Given the description of an element on the screen output the (x, y) to click on. 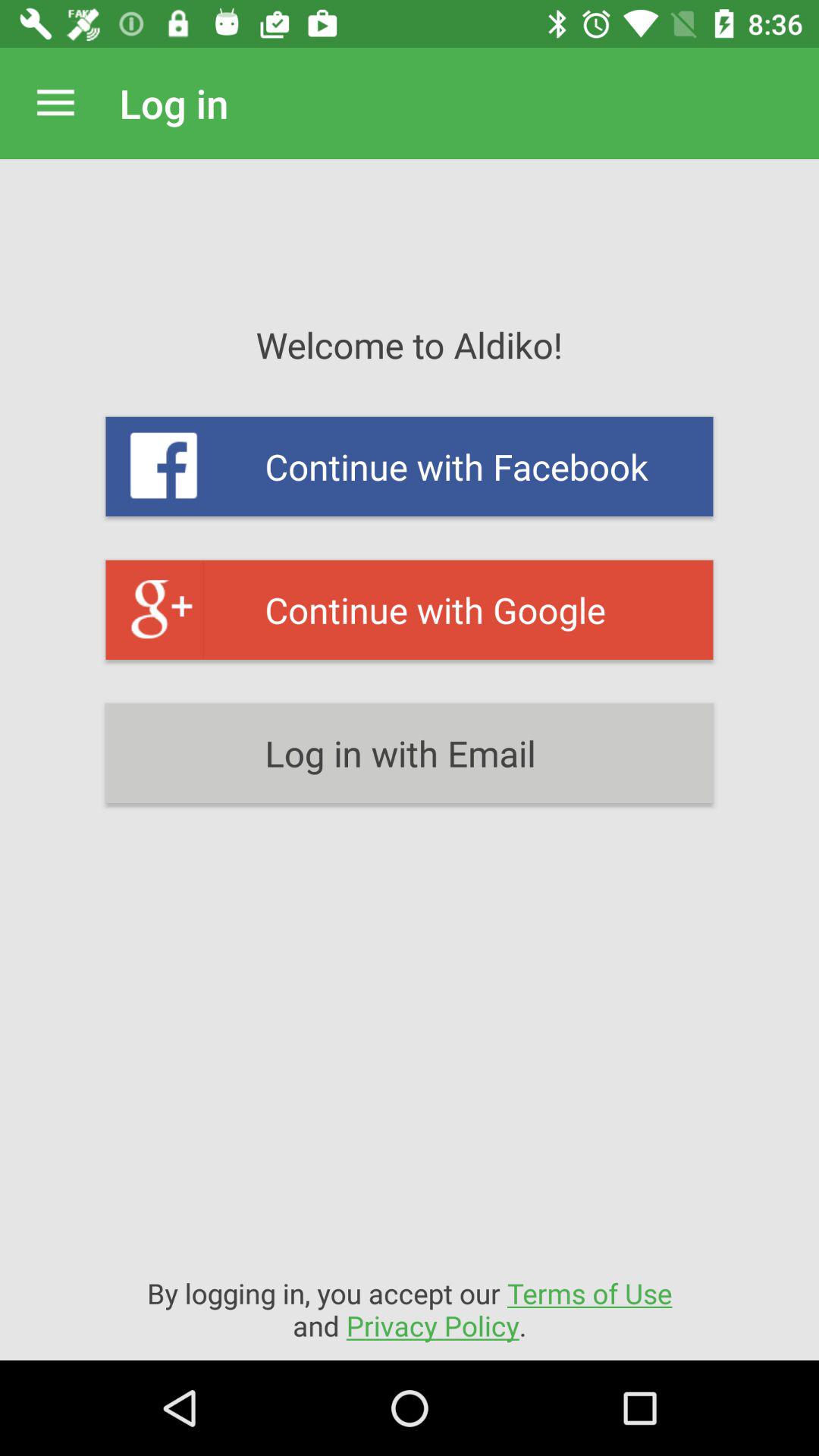
press the app next to log in icon (55, 103)
